Given the description of an element on the screen output the (x, y) to click on. 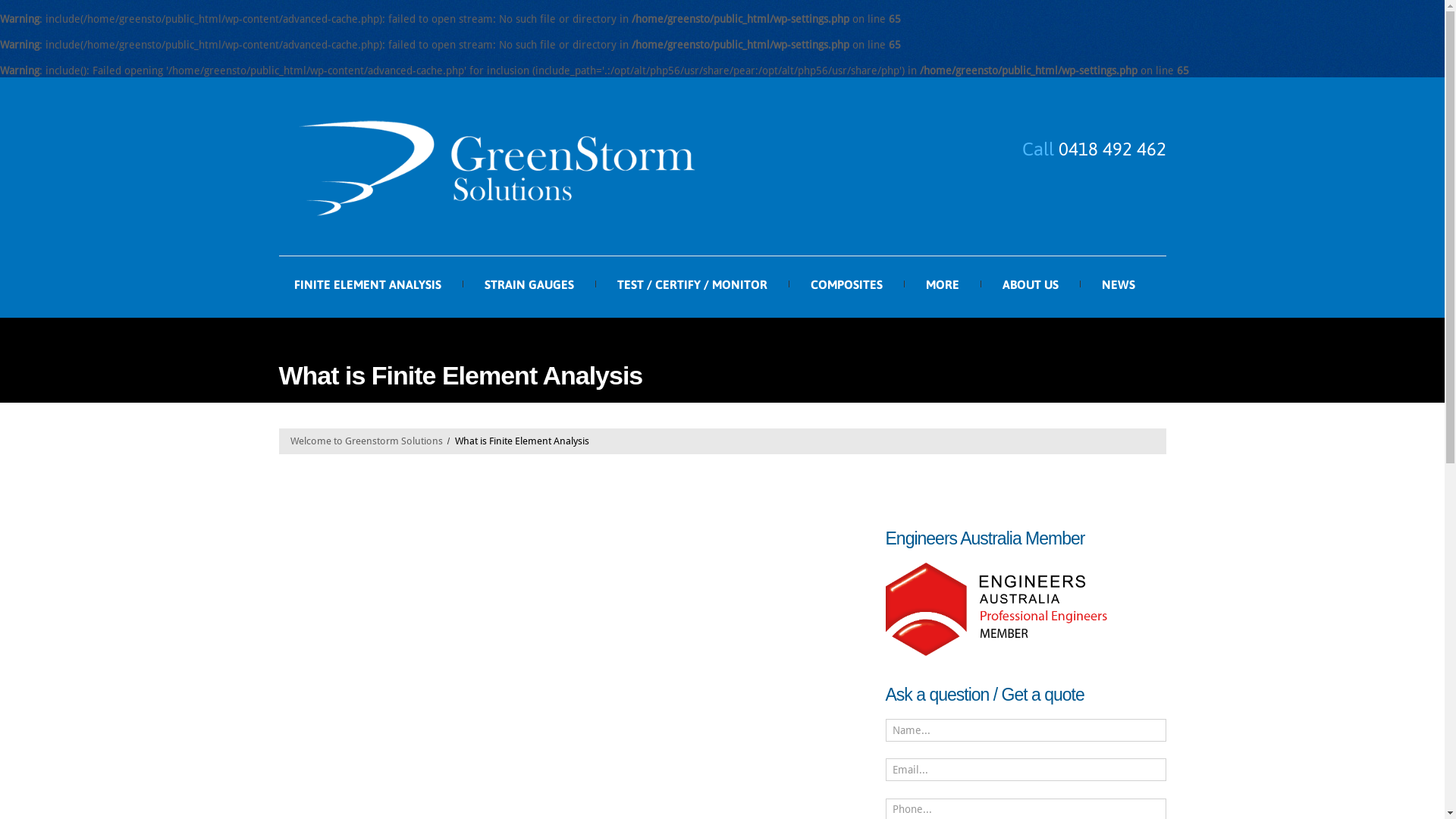
COMPOSITES Element type: text (845, 284)
ABOUT US Element type: text (1030, 284)
MORE Element type: text (941, 284)
STRAIN GAUGES Element type: text (528, 284)
TEST / CERTIFY / MONITOR Element type: text (692, 284)
Welcome to Greenstorm Solutions Element type: text (365, 440)
Find, Fix, Monitor Element type: hover (495, 166)
NEWS Element type: text (1117, 284)
0418 492 462 Element type: text (1112, 148)
FINITE ELEMENT ANALYSIS Element type: text (367, 284)
